Given the description of an element on the screen output the (x, y) to click on. 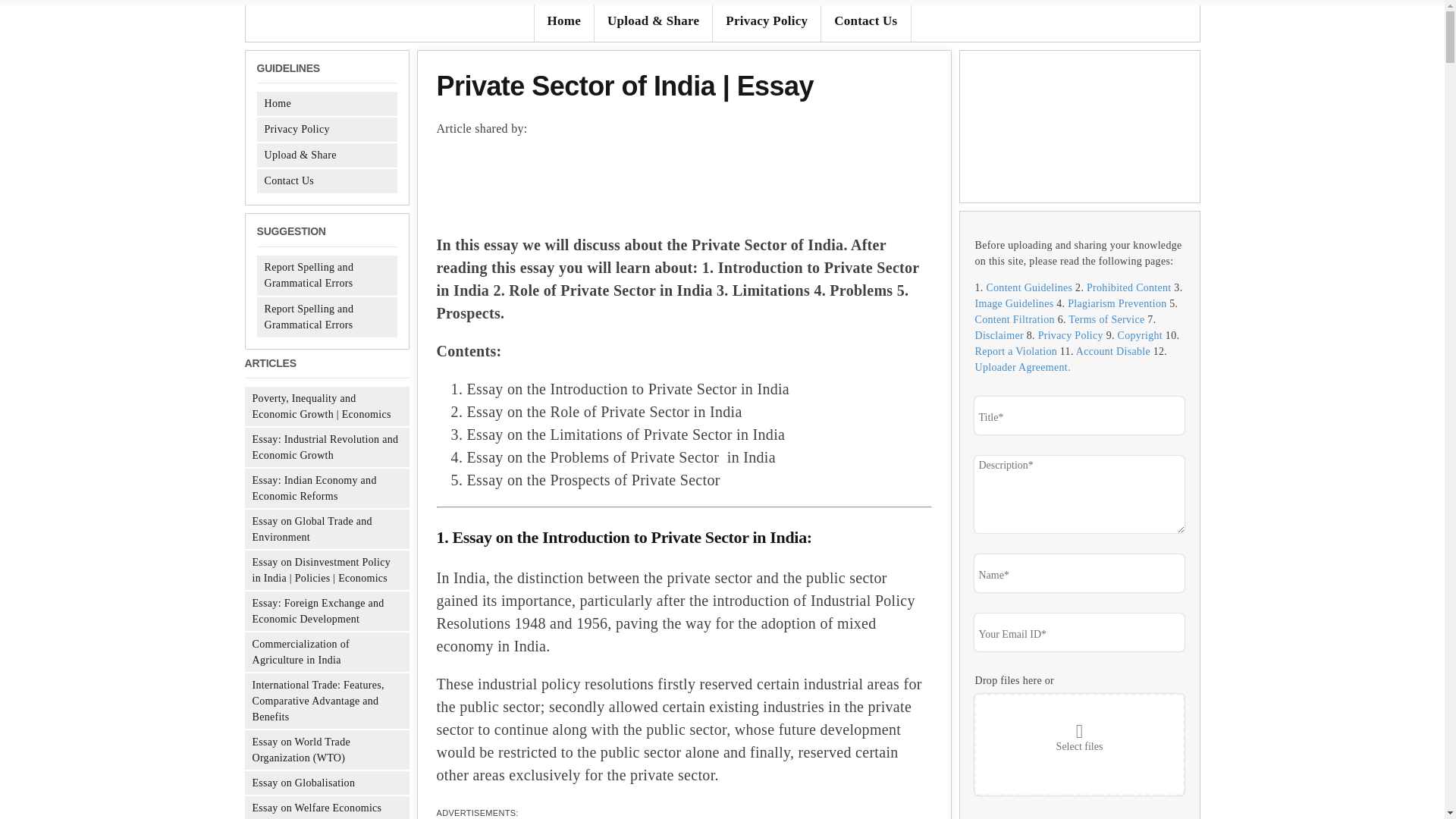
Essay on Globalisation (303, 782)
Privacy Policy (767, 20)
Essay: Industrial Revolution and Economic Growth (324, 447)
Home (276, 102)
Essay: Foreign Exchange and Economic Development (317, 610)
Essay on Welfare Economics (316, 808)
Report Spelling and Grammatical Errors (308, 316)
Essay on Global Trade and Environment (311, 528)
Commercialization of Agriculture in India (300, 651)
Contact Us (288, 180)
